Given the description of an element on the screen output the (x, y) to click on. 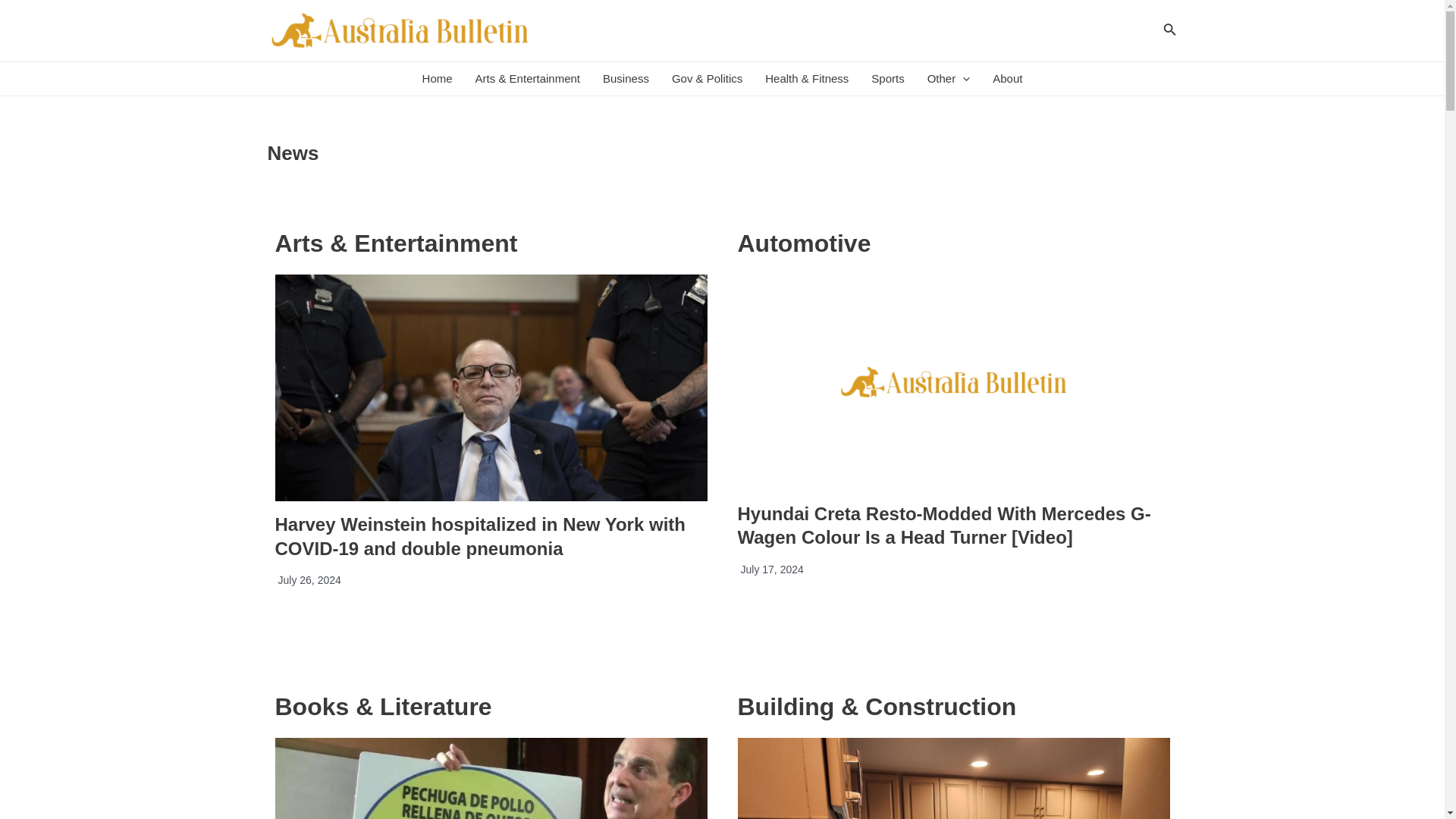
Business (626, 78)
Sports (887, 78)
Other (948, 78)
Home (437, 78)
About (1007, 78)
